Given the description of an element on the screen output the (x, y) to click on. 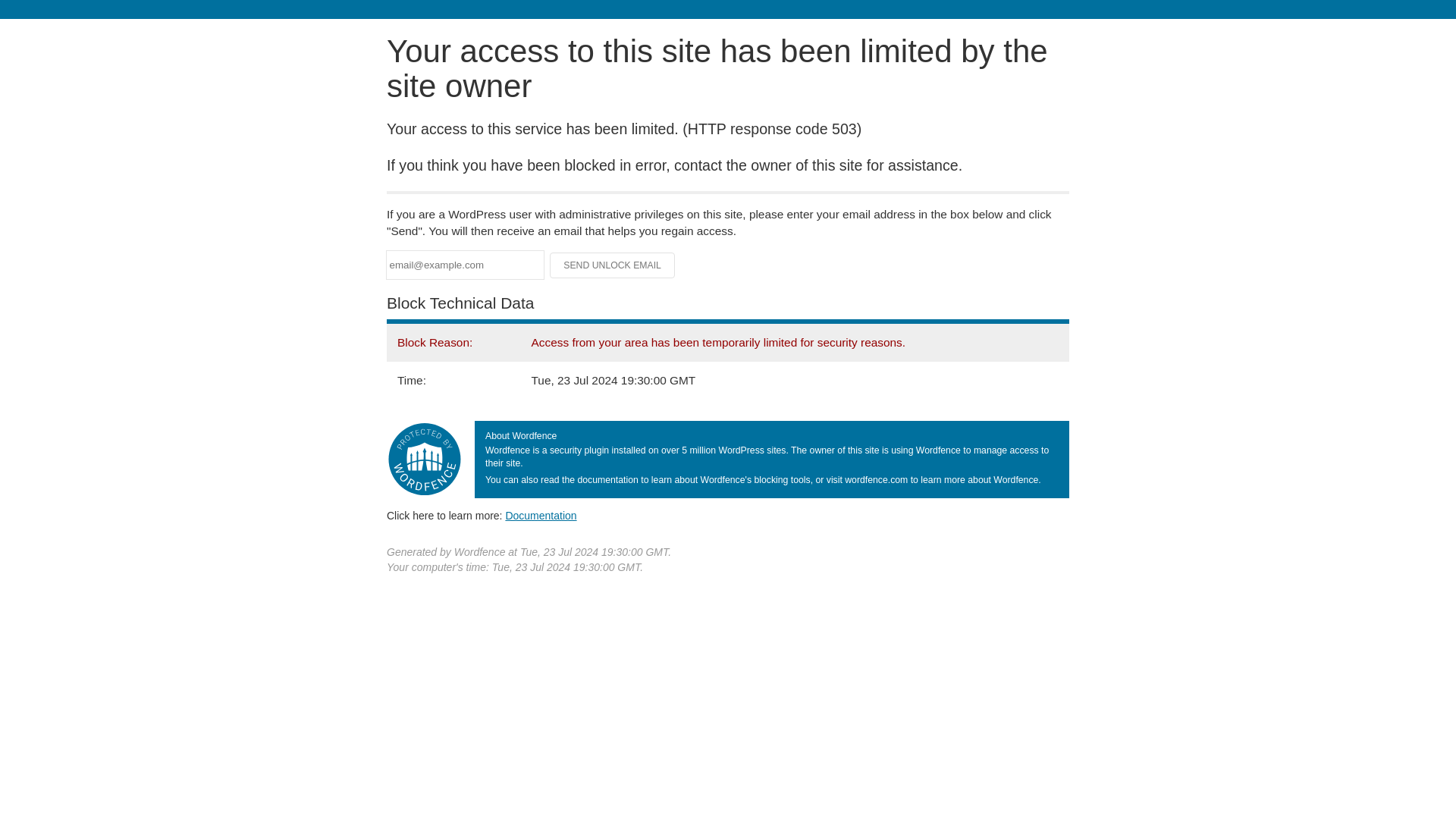
Documentation (540, 515)
Send Unlock Email (612, 265)
Send Unlock Email (612, 265)
